Given the description of an element on the screen output the (x, y) to click on. 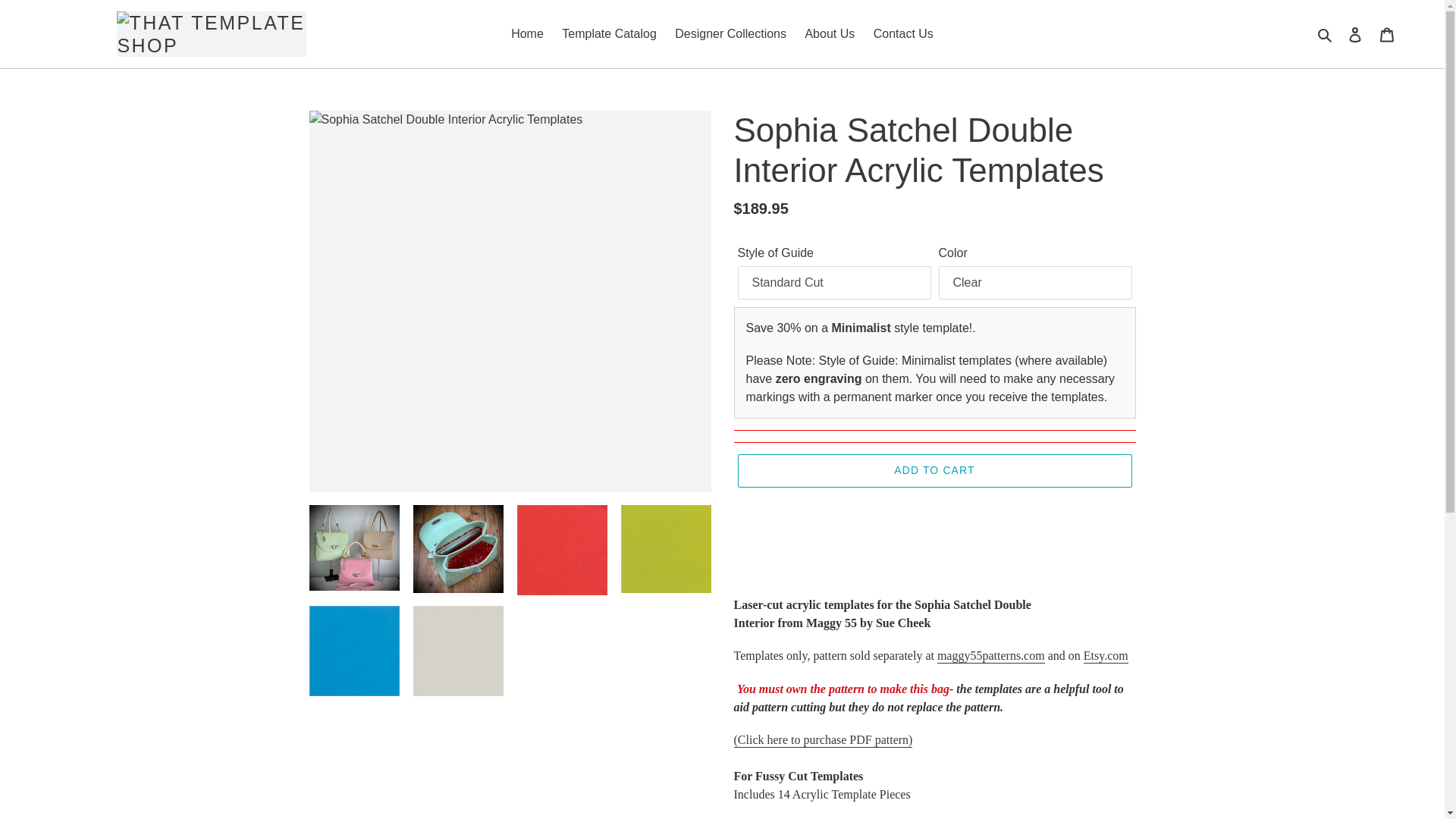
Template Catalog (608, 33)
Cart (1387, 33)
About Us (828, 33)
Home (527, 33)
Contact Us (903, 33)
Log in (1355, 33)
Search (1326, 34)
Designer Collections (729, 33)
Minimalist (860, 327)
maggy55patterns.com (991, 656)
Etsy.com (1105, 656)
ADD TO CART (933, 470)
